Given the description of an element on the screen output the (x, y) to click on. 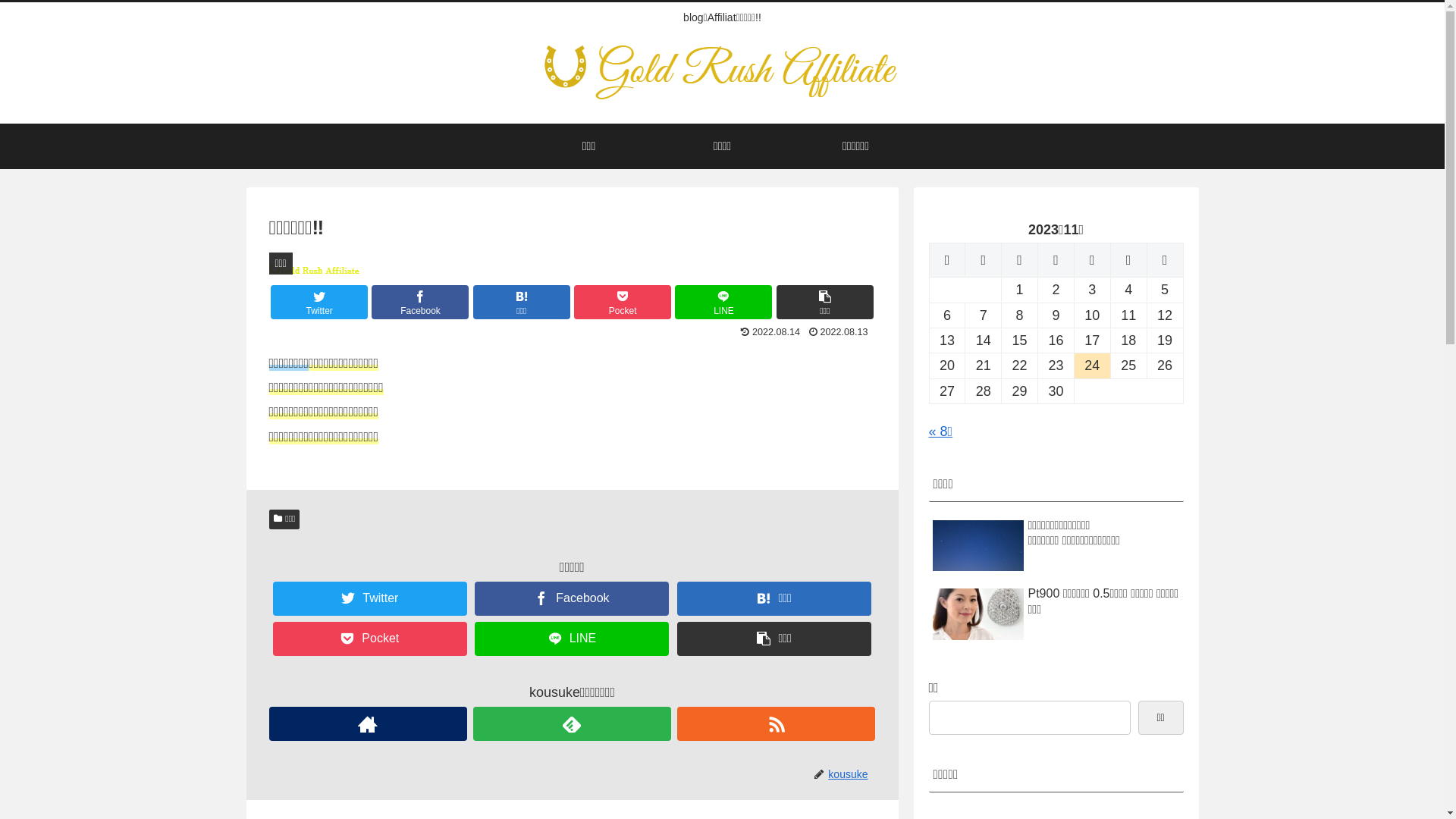
Facebook Element type: text (571, 598)
Pocket Element type: text (370, 638)
kousuke Element type: text (850, 774)
LINE Element type: text (571, 638)
Facebook Element type: text (419, 302)
Twitter Element type: text (318, 302)
Twitter Element type: text (370, 598)
LINE Element type: text (722, 302)
Pocket Element type: text (622, 302)
